Given the description of an element on the screen output the (x, y) to click on. 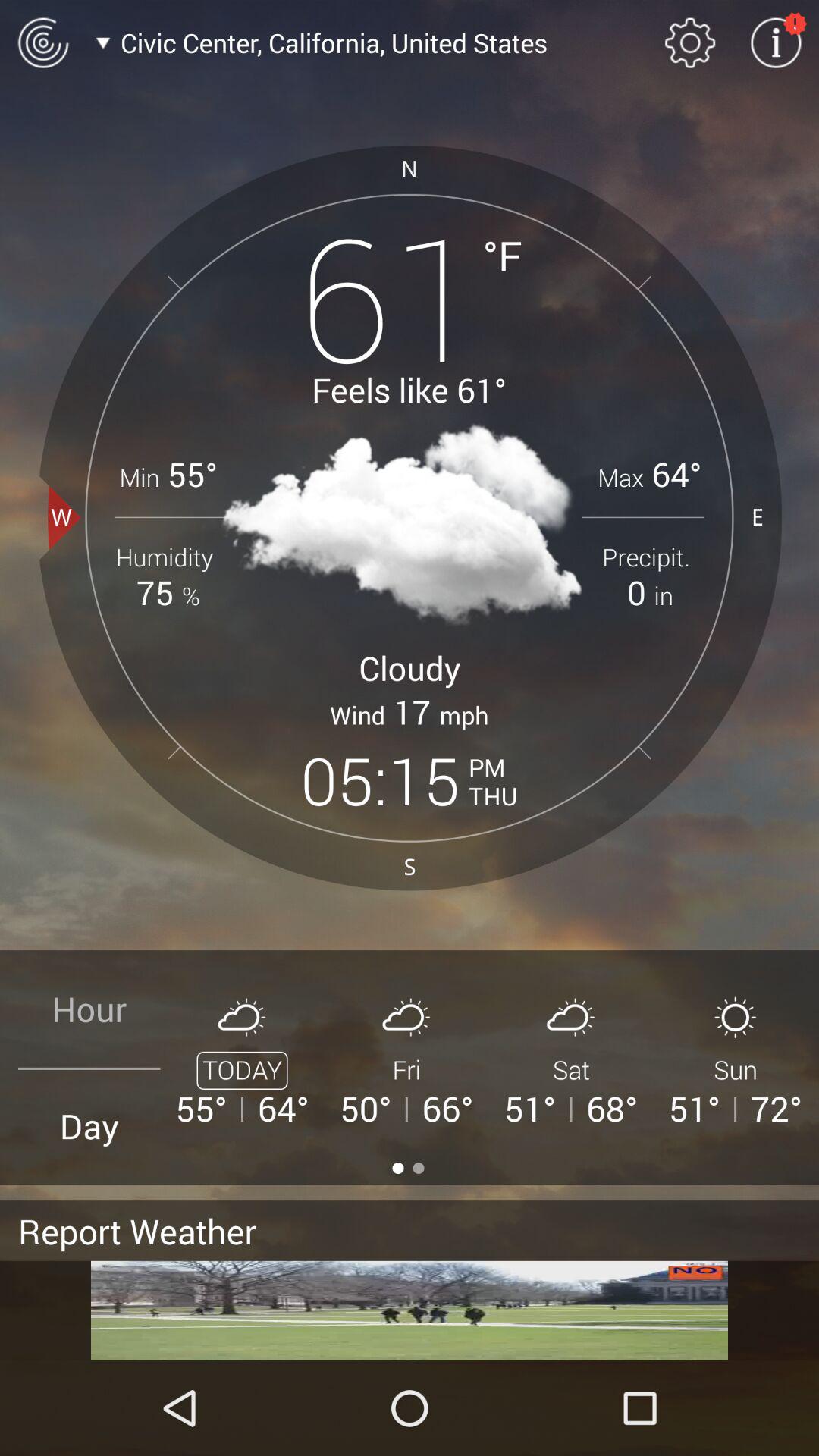
open information settings (776, 42)
